Given the description of an element on the screen output the (x, y) to click on. 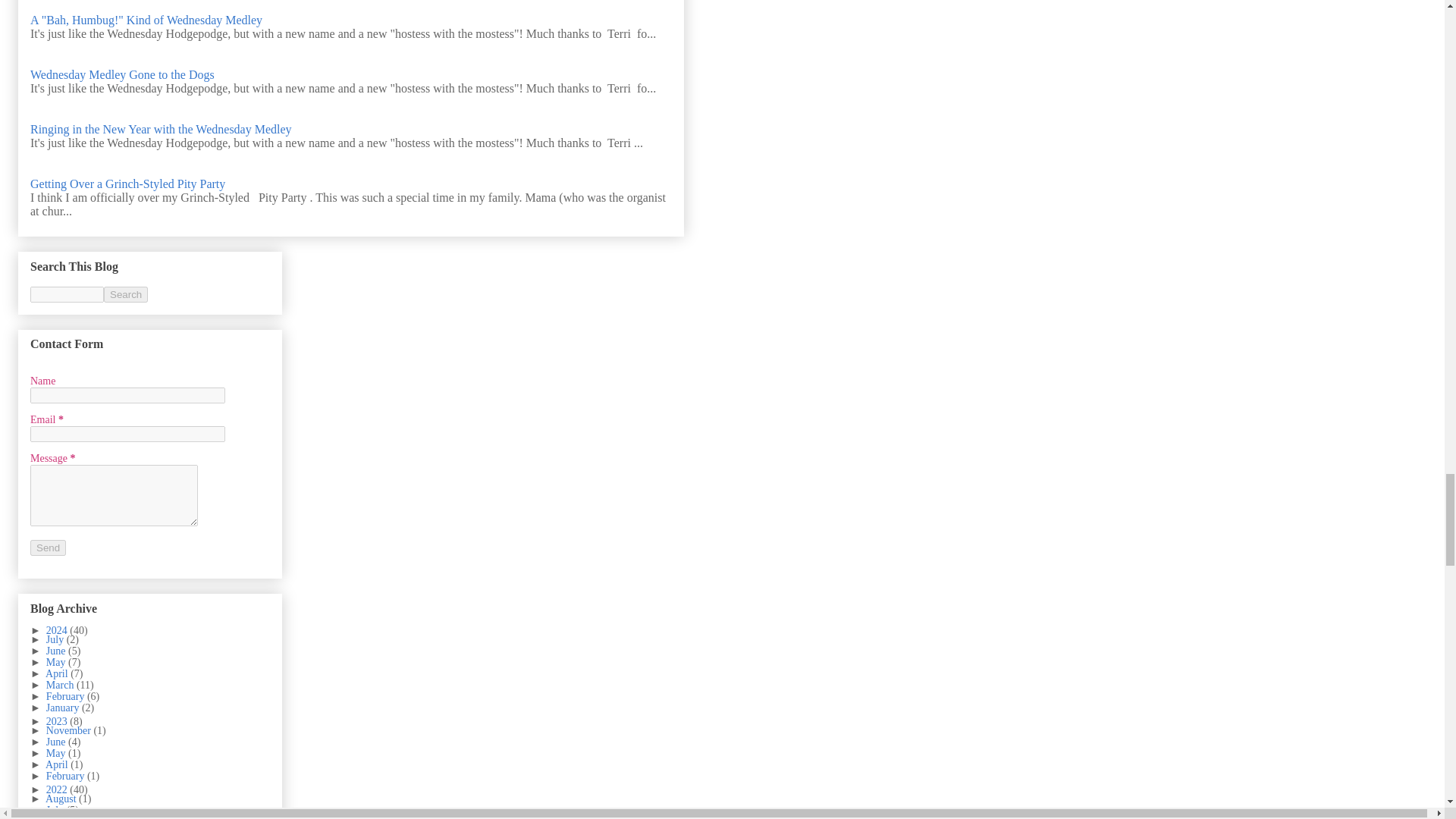
search (125, 294)
search (66, 294)
Send (47, 547)
Search (125, 294)
Search (125, 294)
